Given the description of an element on the screen output the (x, y) to click on. 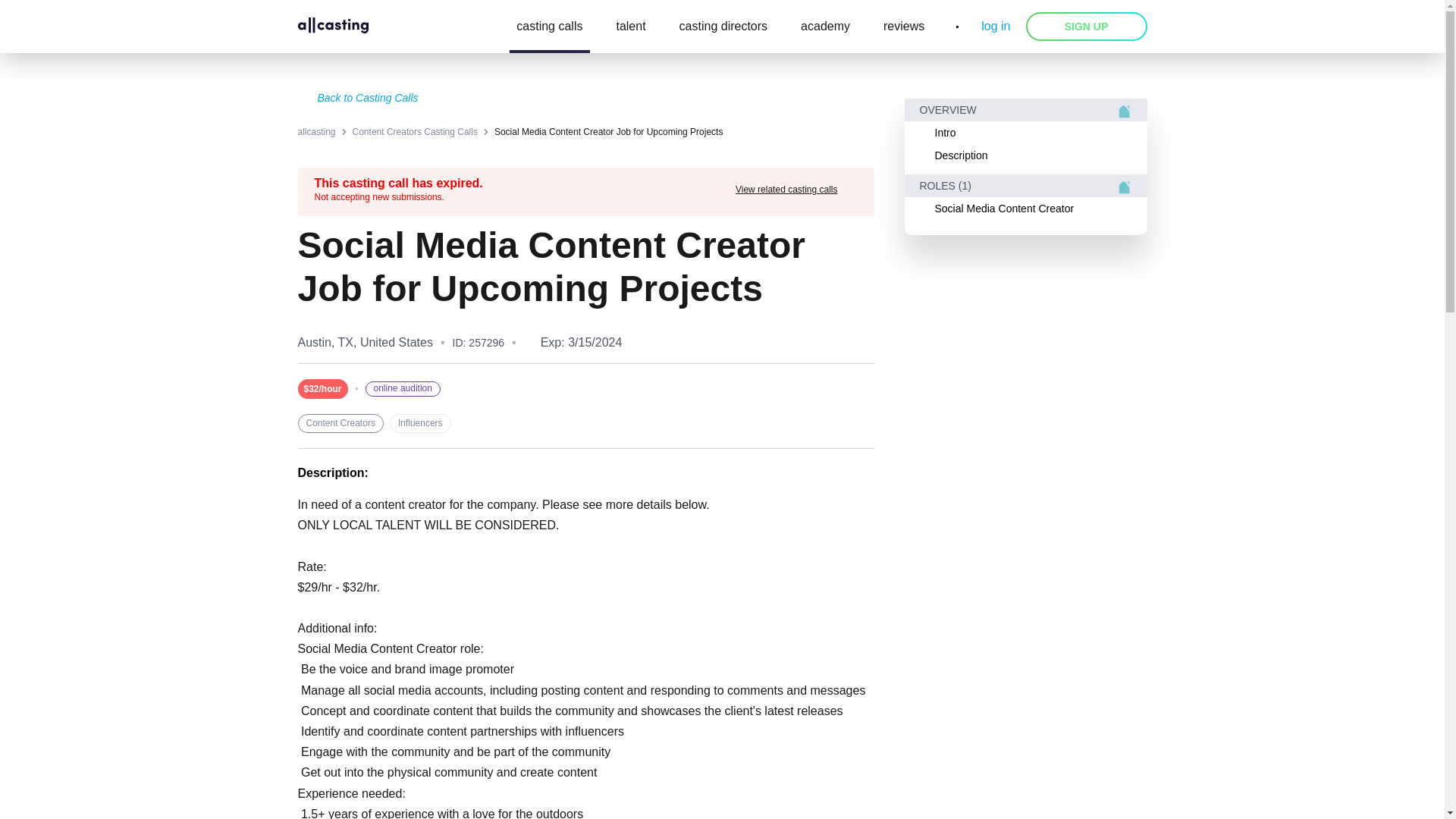
Content Creators (339, 423)
casting calls (548, 26)
academy (825, 26)
Back to Casting Calls (585, 98)
View related casting calls (796, 189)
SIGN UP (1086, 26)
Description (1025, 155)
reviews (904, 26)
Content Creators Casting Calls (414, 131)
Influencers (420, 423)
talent (630, 26)
Social Media Content Creator (1025, 208)
allcasting (315, 131)
Intro (1025, 132)
casting directors (723, 26)
